Given the description of an element on the screen output the (x, y) to click on. 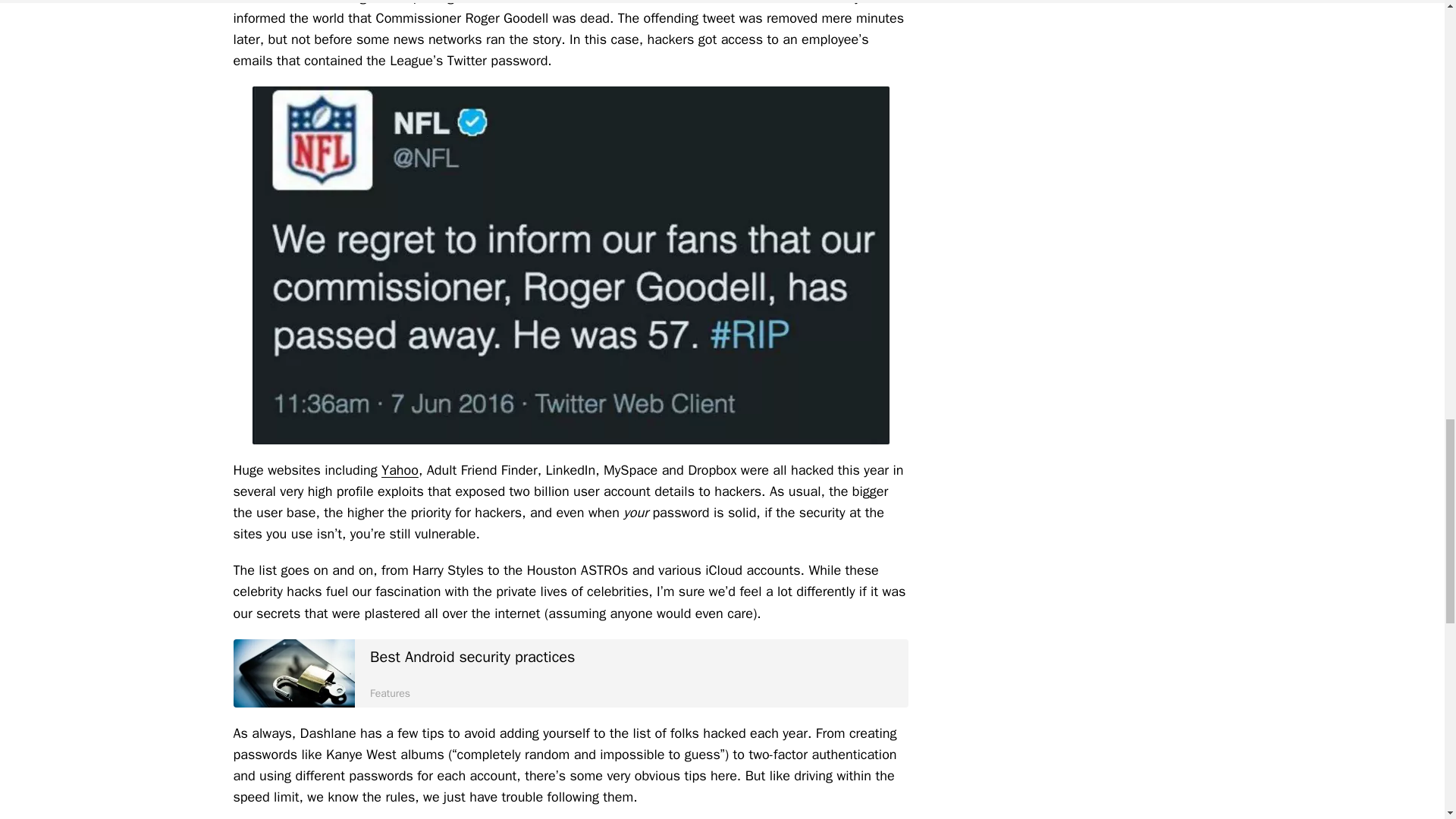
smartphone privacy security 2 (293, 673)
Yahoo (570, 673)
